Given the description of an element on the screen output the (x, y) to click on. 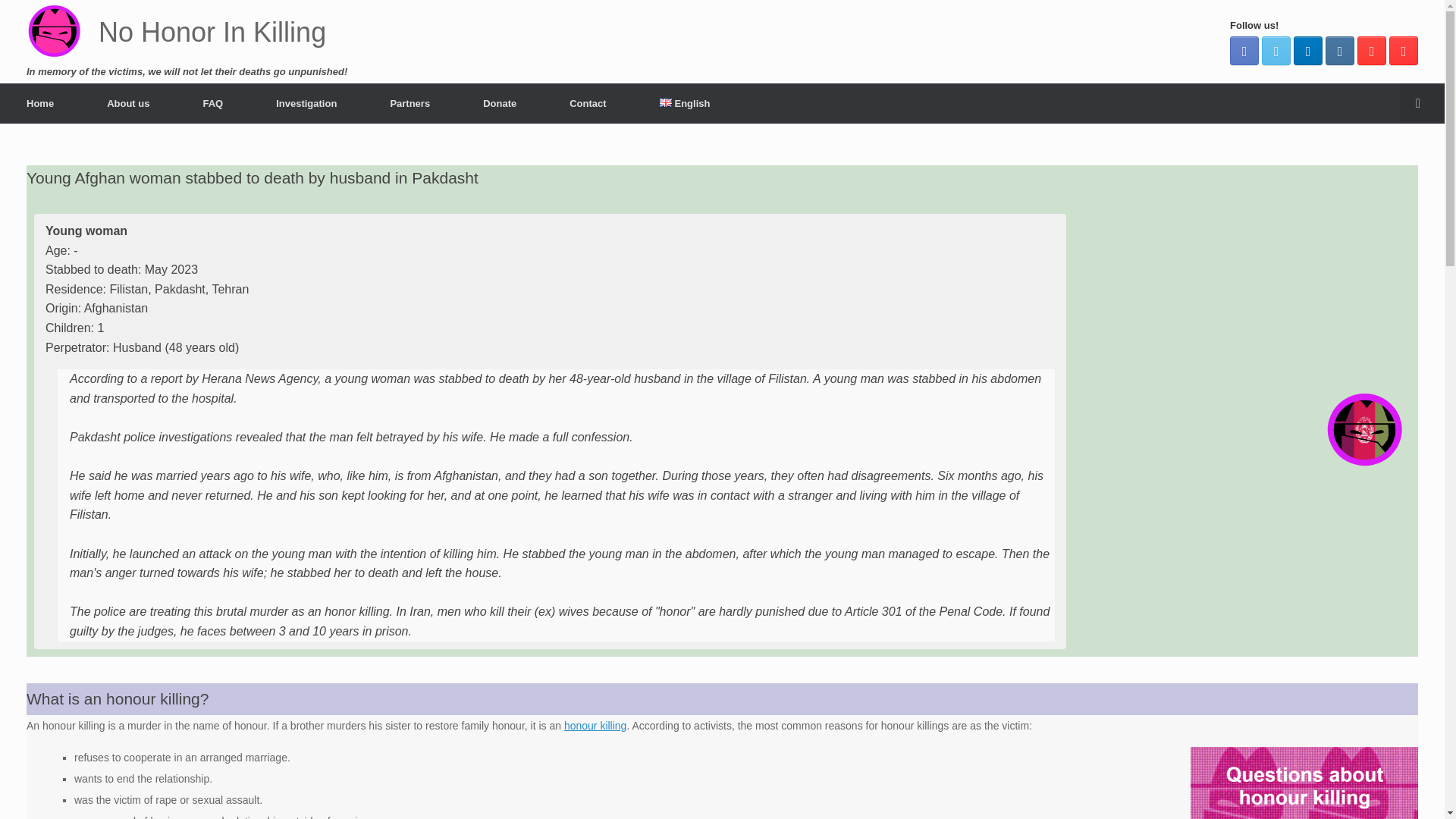
Investigation (305, 103)
No Honor In Killing YouTube (1403, 50)
No Honor In Killing (176, 32)
No Honor In Killing LinkedIn (1308, 50)
No Honor In Killing Instagram (1339, 50)
FAQ (212, 103)
No Honor In Killing Facebook (1244, 50)
Home (40, 103)
Partners (409, 103)
About us (128, 103)
